Given the description of an element on the screen output the (x, y) to click on. 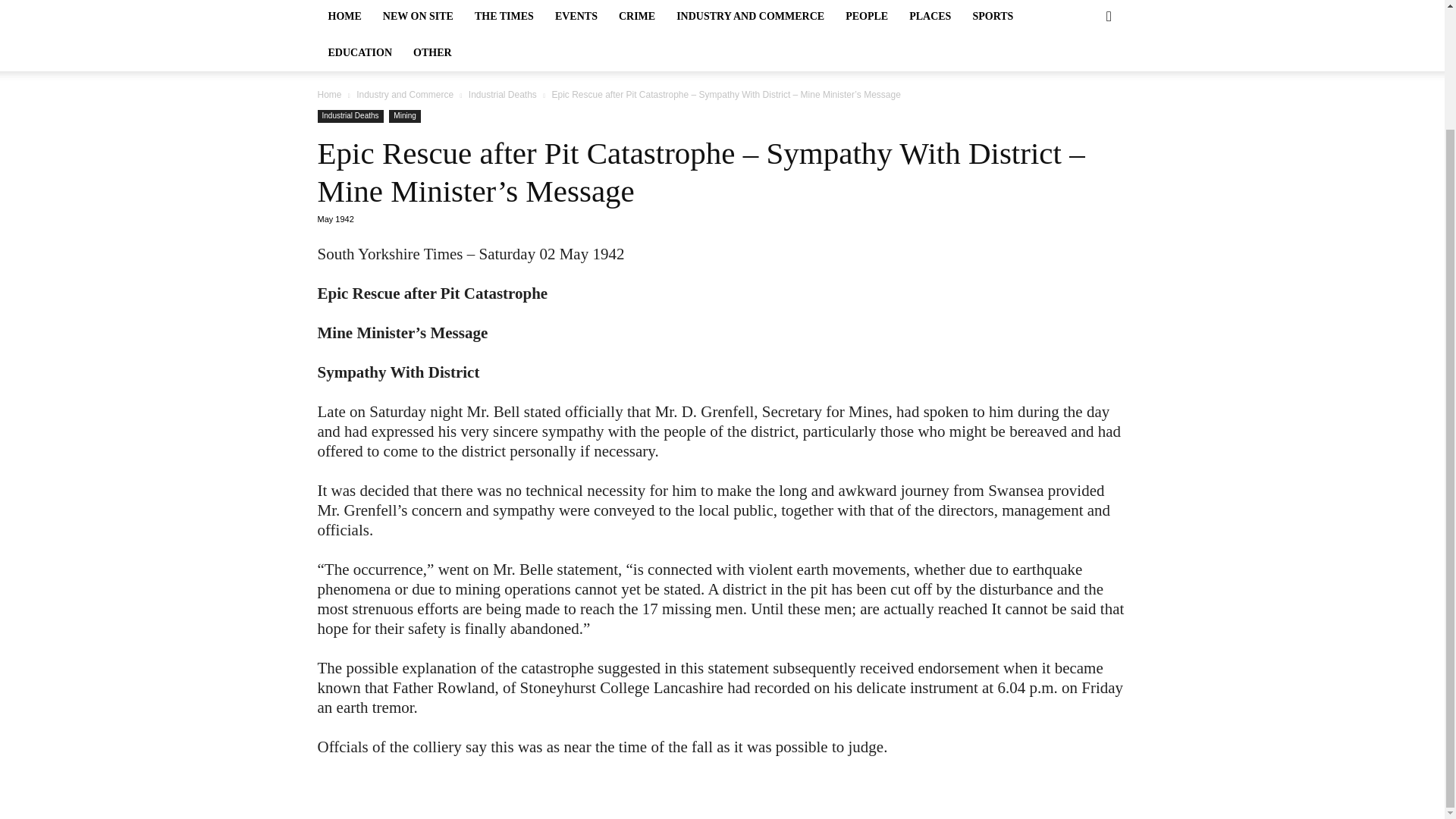
View all posts in Industrial Deaths (502, 94)
PLACES (929, 17)
PEOPLE (866, 17)
NEW ON SITE (418, 17)
EVENTS (576, 17)
THE TIMES (504, 17)
INDUSTRY AND COMMERCE (749, 17)
HOME (344, 17)
CRIME (636, 17)
View all posts in Industry and Commerce (404, 94)
